Given the description of an element on the screen output the (x, y) to click on. 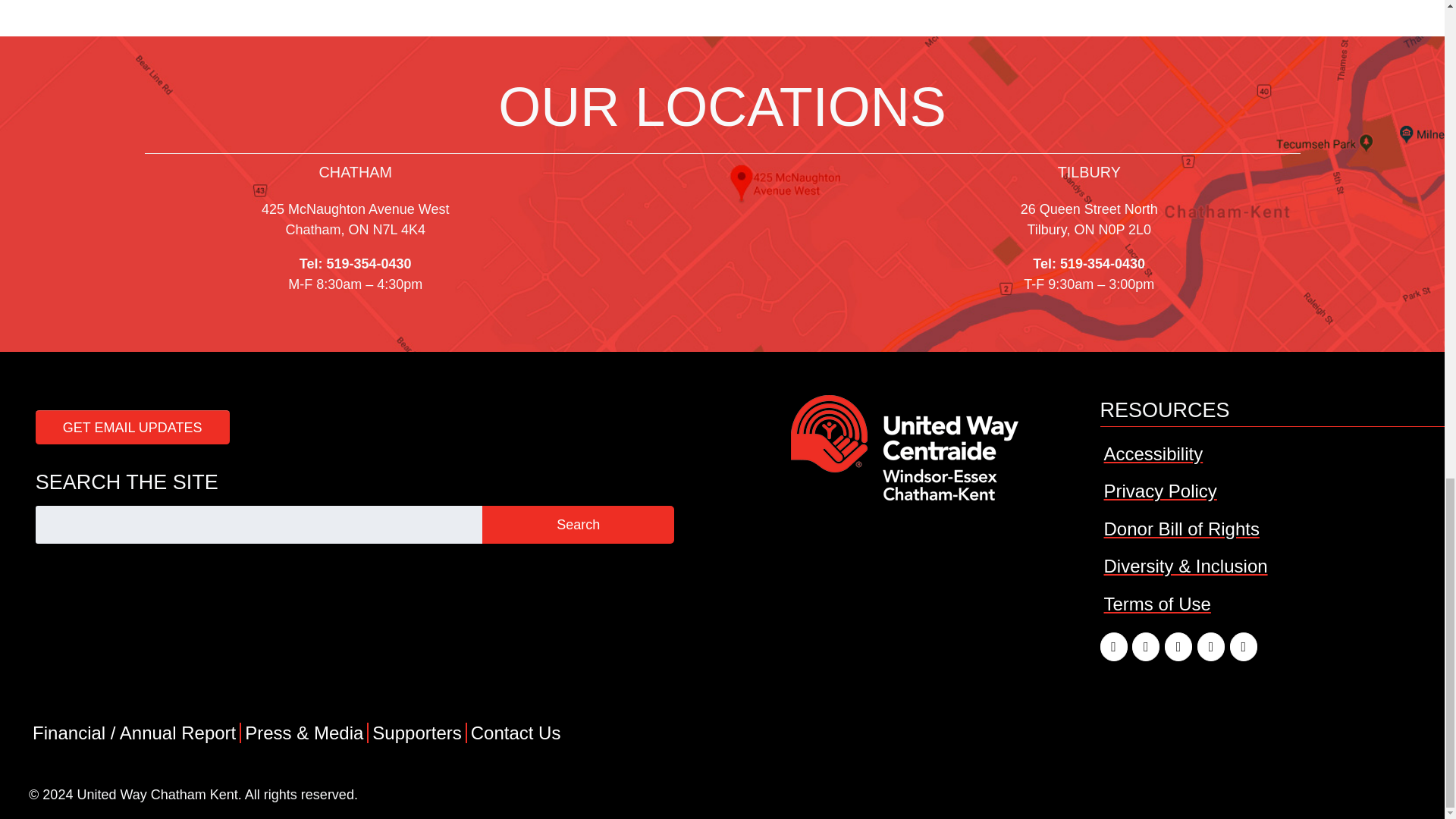
Accessibility (1153, 453)
United Way Chatham Kent on Facebook (1112, 646)
Supporters (416, 732)
Contact Us (515, 732)
Search (577, 524)
United Way Chatham Kent on X Twitter (1145, 646)
Terms of Use (1156, 603)
Donor Bill of Rights (1180, 528)
United Way Chatham Kent on Youtube (1243, 646)
Search (577, 524)
Privacy Policy (1159, 490)
United Way Chatham Kent on Instagram (1178, 646)
GET EMAIL UPDATES (132, 427)
United Way Chatham Kent on Linkedin (1210, 646)
